Given the description of an element on the screen output the (x, y) to click on. 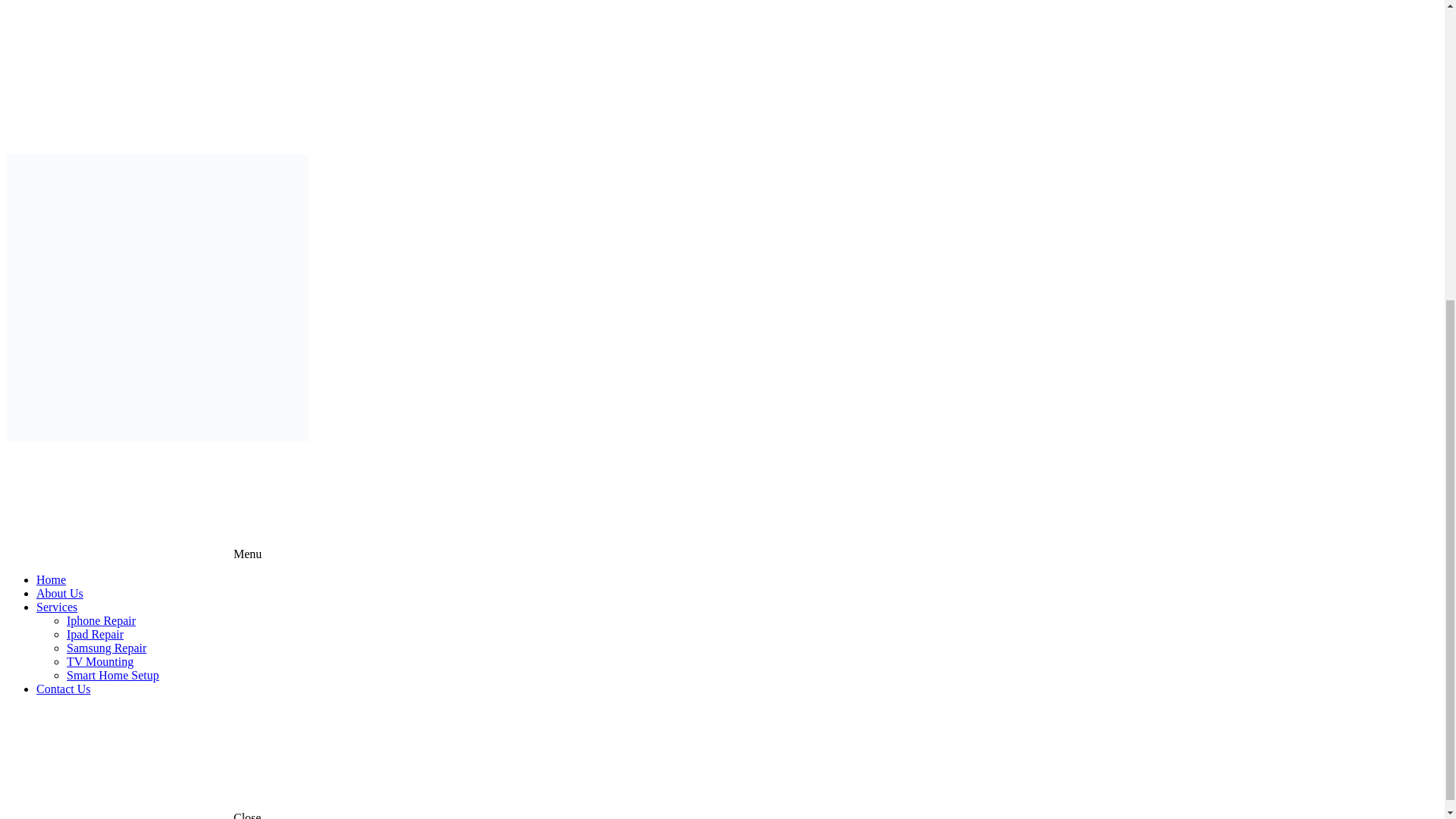
TV Mounting (99, 661)
About Us (59, 593)
Home (50, 579)
Services (56, 606)
Contact Us (63, 688)
Iphone Repair (100, 620)
Samsung Repair (106, 647)
Smart Home Setup (112, 675)
Ipad Repair (94, 634)
